Given the description of an element on the screen output the (x, y) to click on. 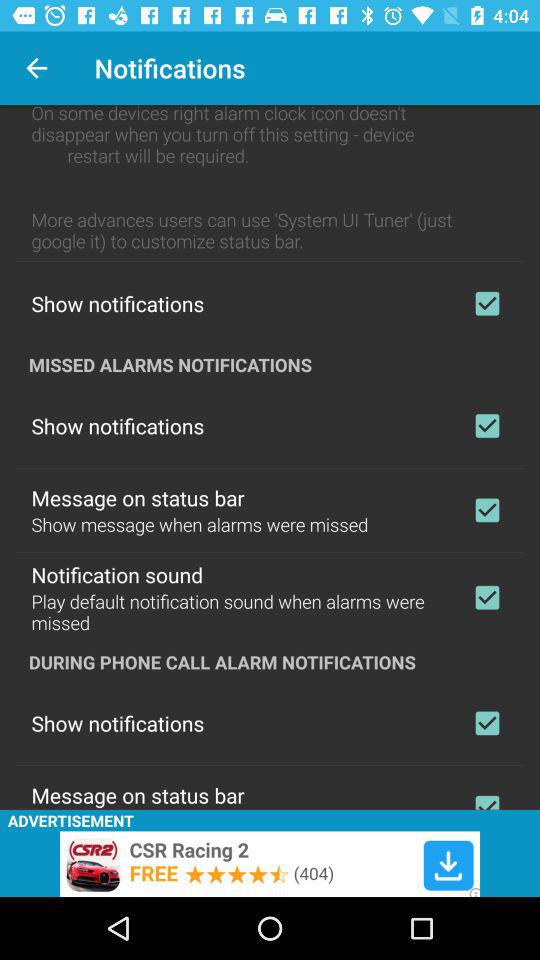
enable show notifications (487, 723)
